Given the description of an element on the screen output the (x, y) to click on. 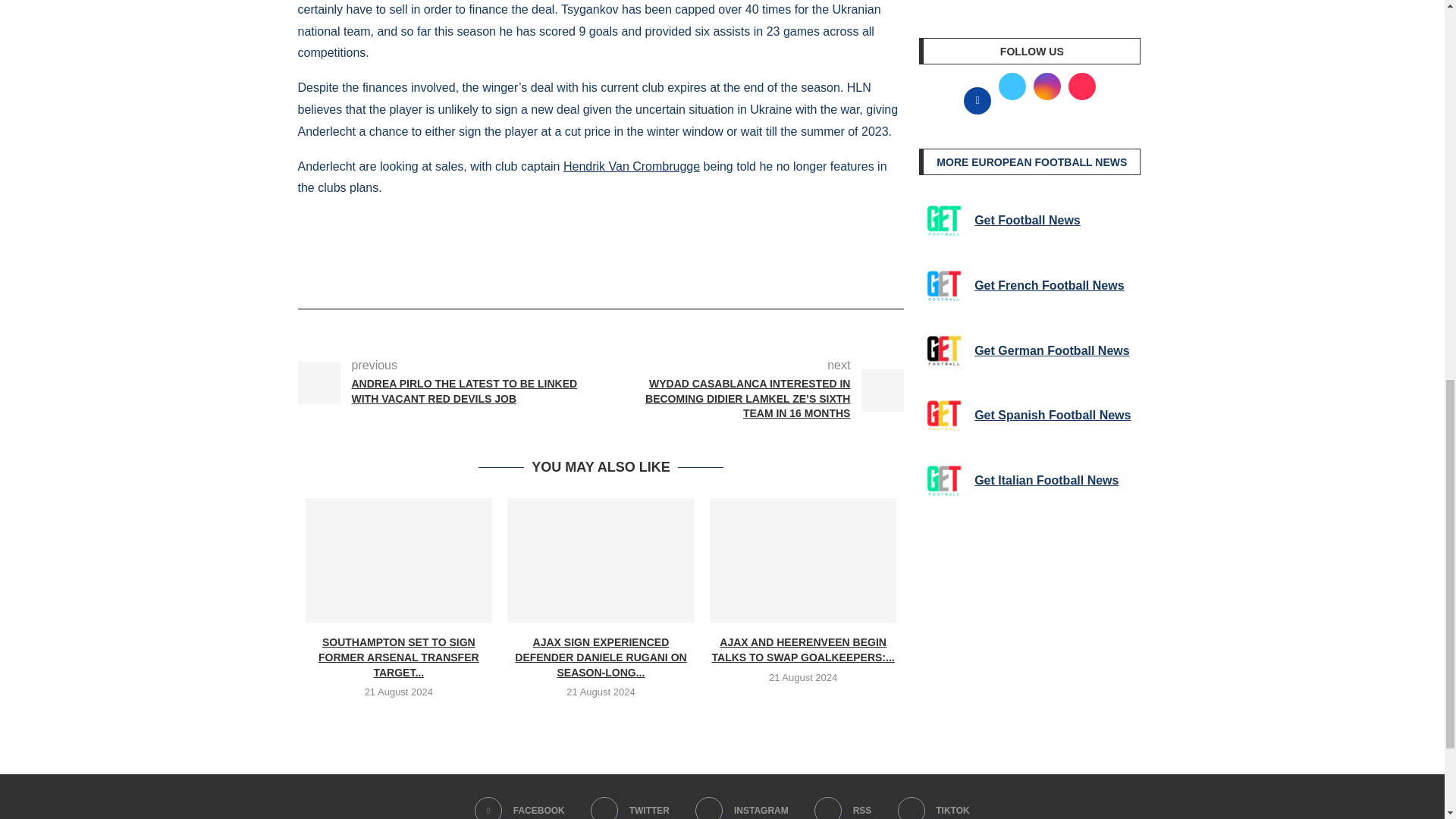
Get Football News (943, 220)
Get Italian Football News (943, 480)
Get French Football News (943, 286)
Get Spanish Football News (943, 415)
Get German Football News (943, 350)
